Given the description of an element on the screen output the (x, y) to click on. 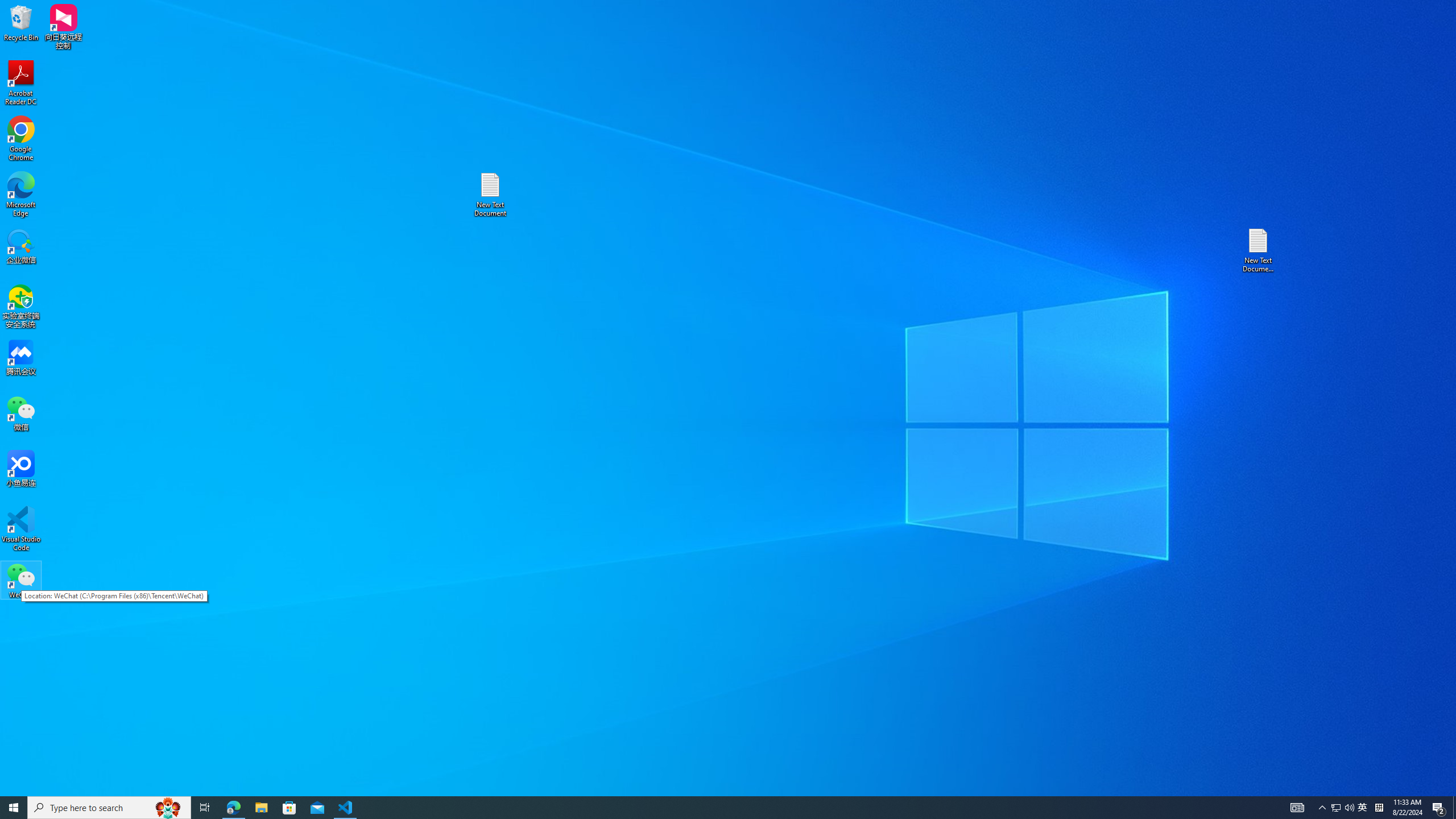
Microsoft Edge (21, 194)
Running applications (707, 807)
Search highlights icon opens search home window (167, 807)
Google Chrome (21, 138)
Q2790: 100% (1349, 807)
Acrobat Reader DC (21, 82)
Visual Studio Code - 1 running window (345, 807)
Task View (204, 807)
Start (13, 807)
User Promoted Notification Area (1362, 807)
